Given the description of an element on the screen output the (x, y) to click on. 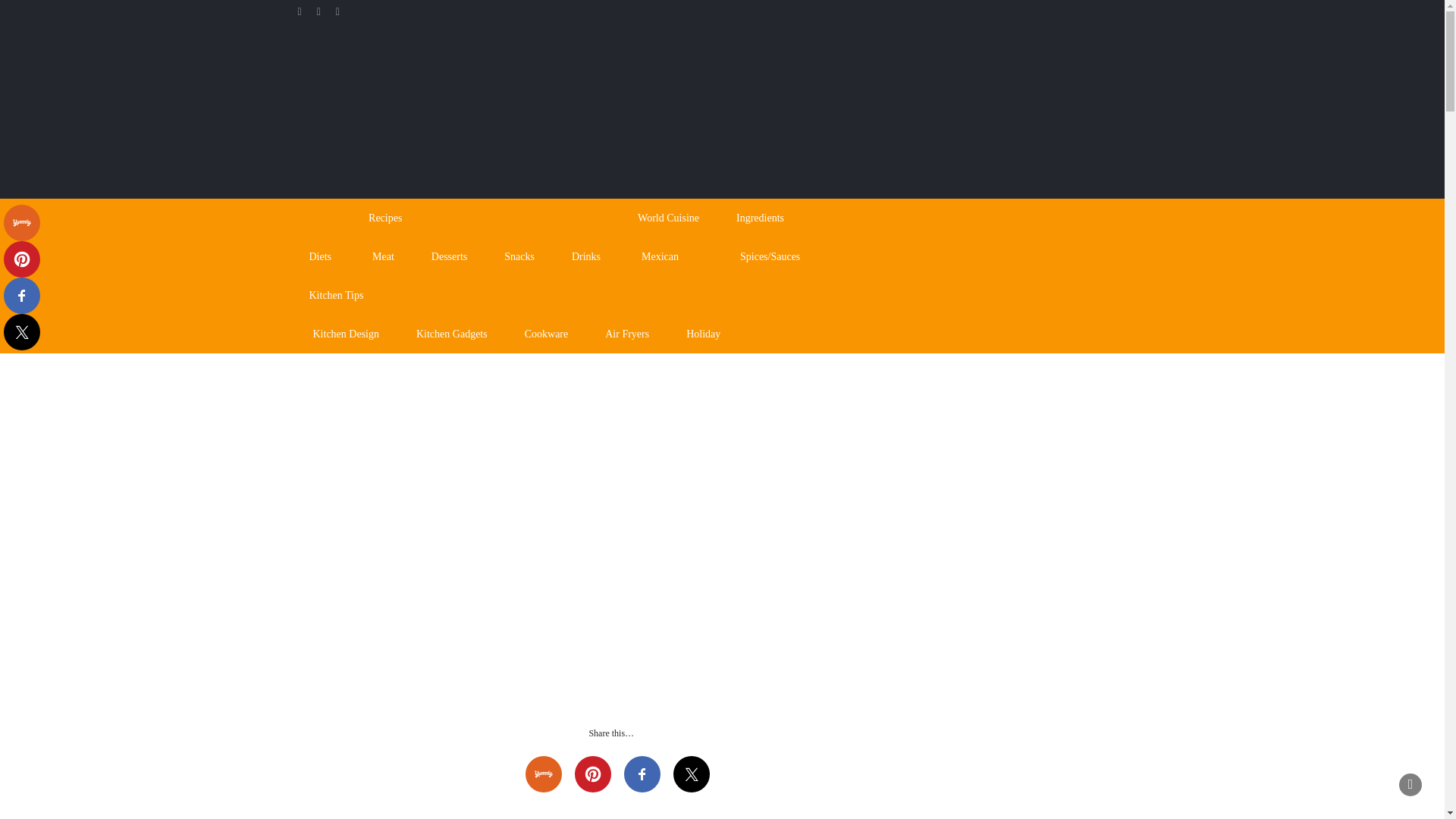
Snacks (519, 256)
Diets (320, 256)
Meat (382, 256)
Desserts (448, 256)
Air Fryers (626, 333)
Holiday (703, 333)
Wow to make Bacon Egg and Cheese Breakfast Burrito (1054, 444)
Kitchen Gadgets (451, 333)
Ingredients (767, 218)
Kitchen Tips (479, 295)
